Given the description of an element on the screen output the (x, y) to click on. 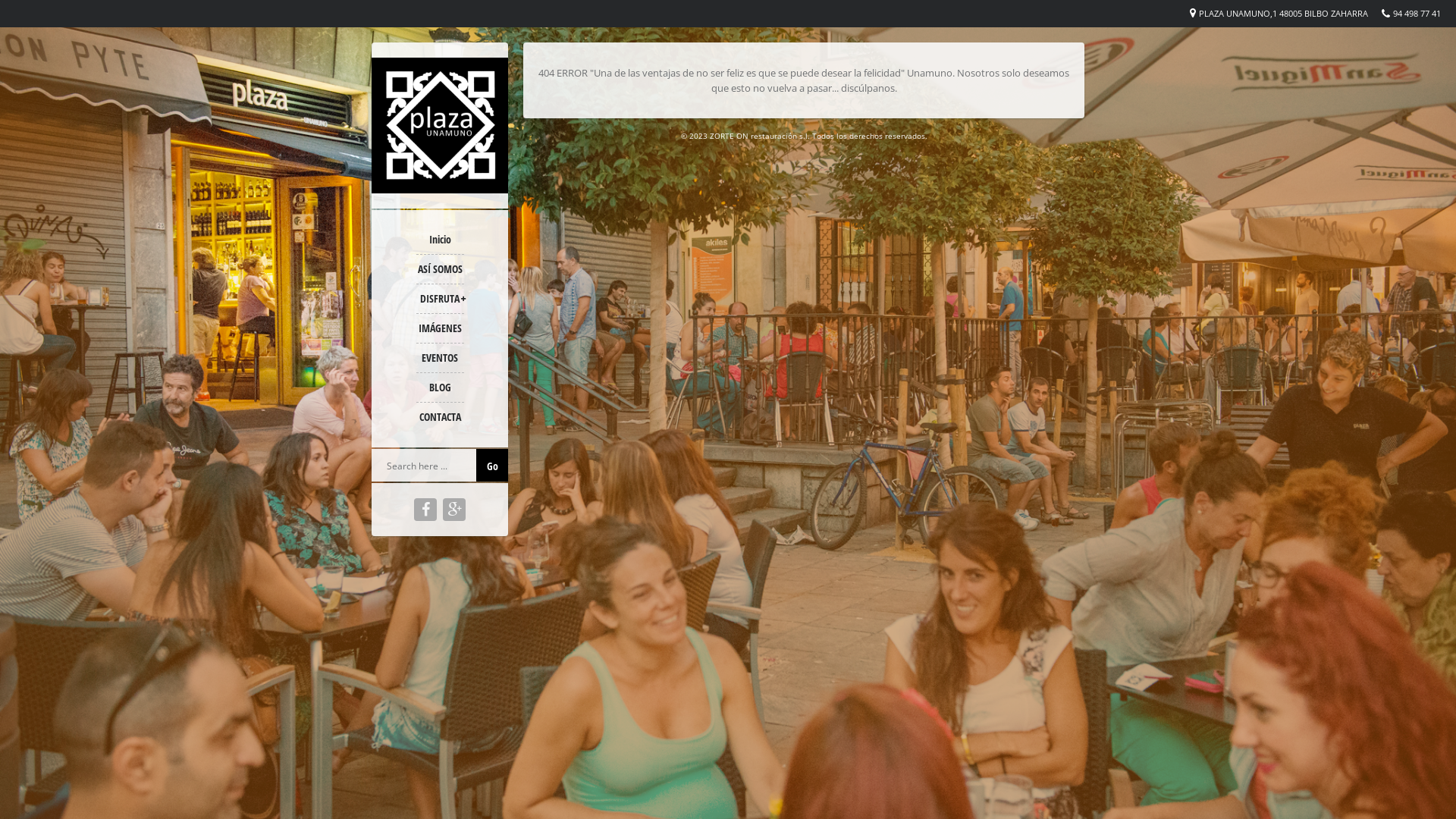
BLOG Element type: text (439, 387)
EVENTOS Element type: text (439, 357)
DISFRUTA Element type: text (439, 298)
Go Element type: text (492, 464)
CONTACTA Element type: text (439, 416)
Inicio Element type: text (439, 239)
